Given the description of an element on the screen output the (x, y) to click on. 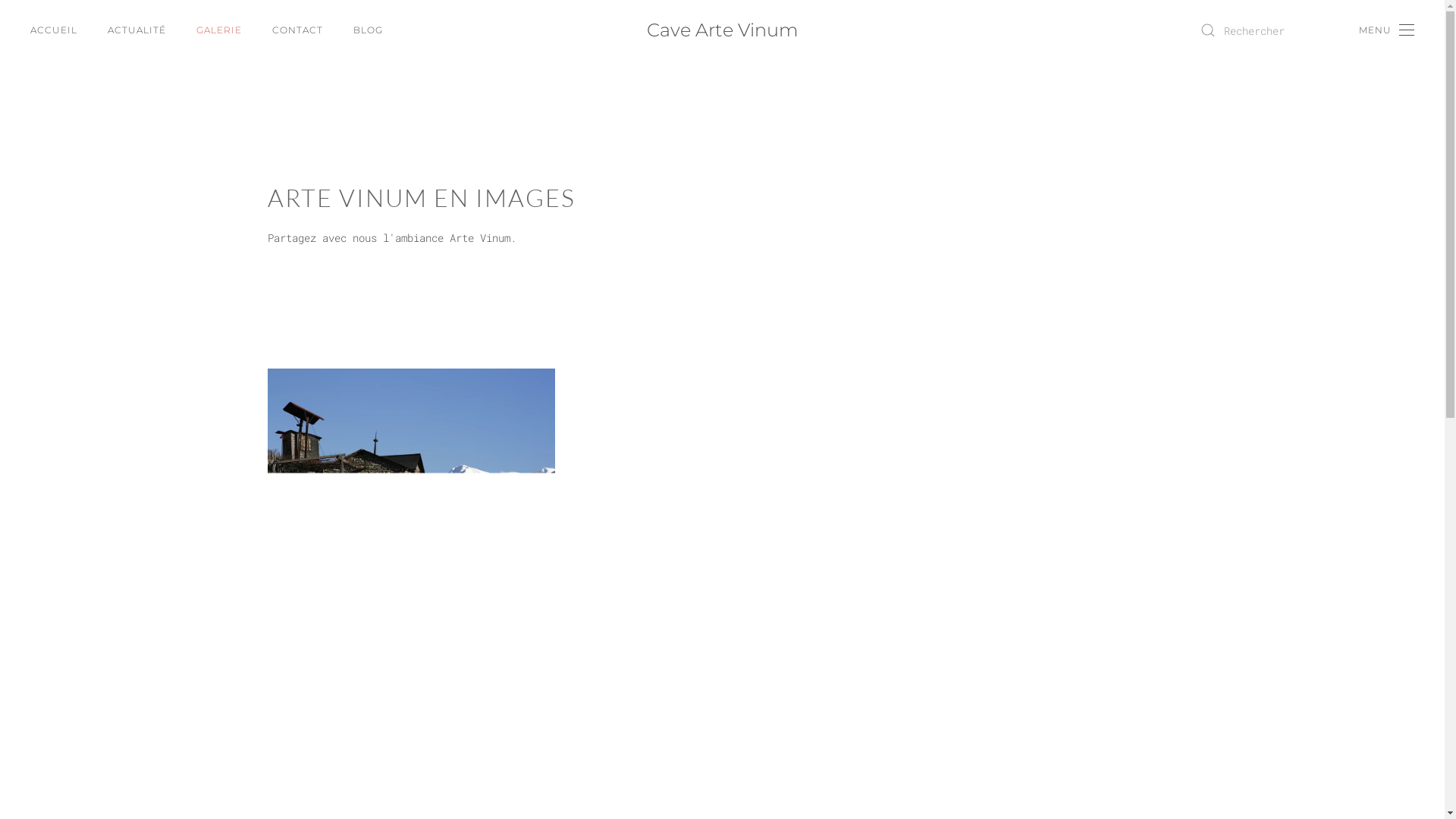
GALERIE Element type: text (219, 30)
BLOG Element type: text (368, 30)
Cave Arte Vinum Element type: text (721, 30)
ACCUEIL Element type: text (53, 30)
CONTACT Element type: text (297, 30)
